Given the description of an element on the screen output the (x, y) to click on. 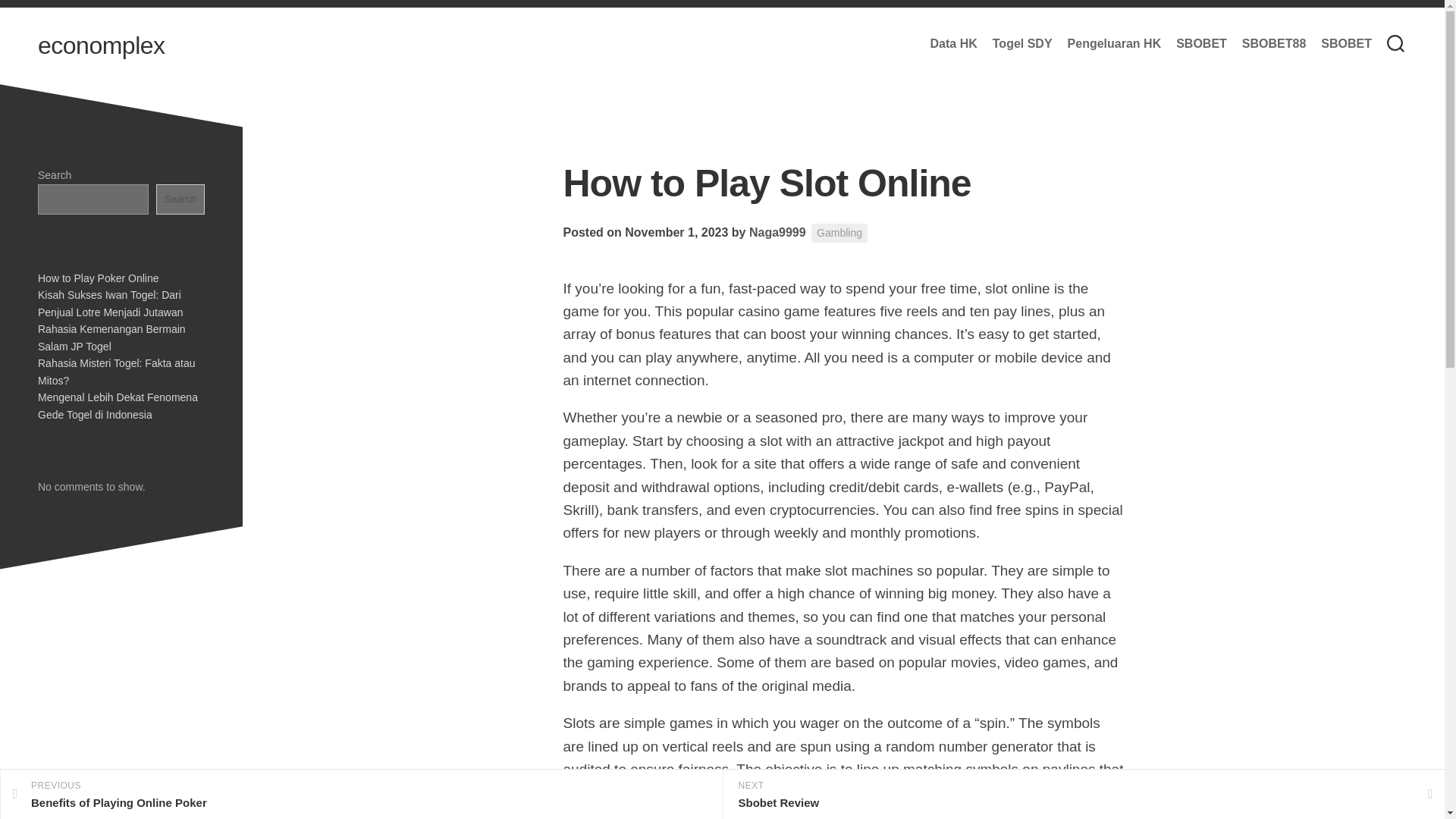
SBOBET88 (1273, 43)
economplex (101, 44)
Rahasia Kemenangan Bermain Salam JP Togel (111, 337)
Gambling (838, 232)
Posts by Naga9999 (777, 232)
Search (180, 198)
Rahasia Misteri Togel: Fakta atau Mitos? (116, 371)
Mengenal Lebih Dekat Fenomena Gede Togel di Indonesia (117, 405)
SBOBET (1201, 43)
Data HK (953, 43)
How to Play Poker Online (97, 277)
Kisah Sukses Iwan Togel: Dari Penjual Lotre Menjadi Jutawan (110, 303)
SBOBET (361, 794)
Togel SDY (1345, 43)
